Given the description of an element on the screen output the (x, y) to click on. 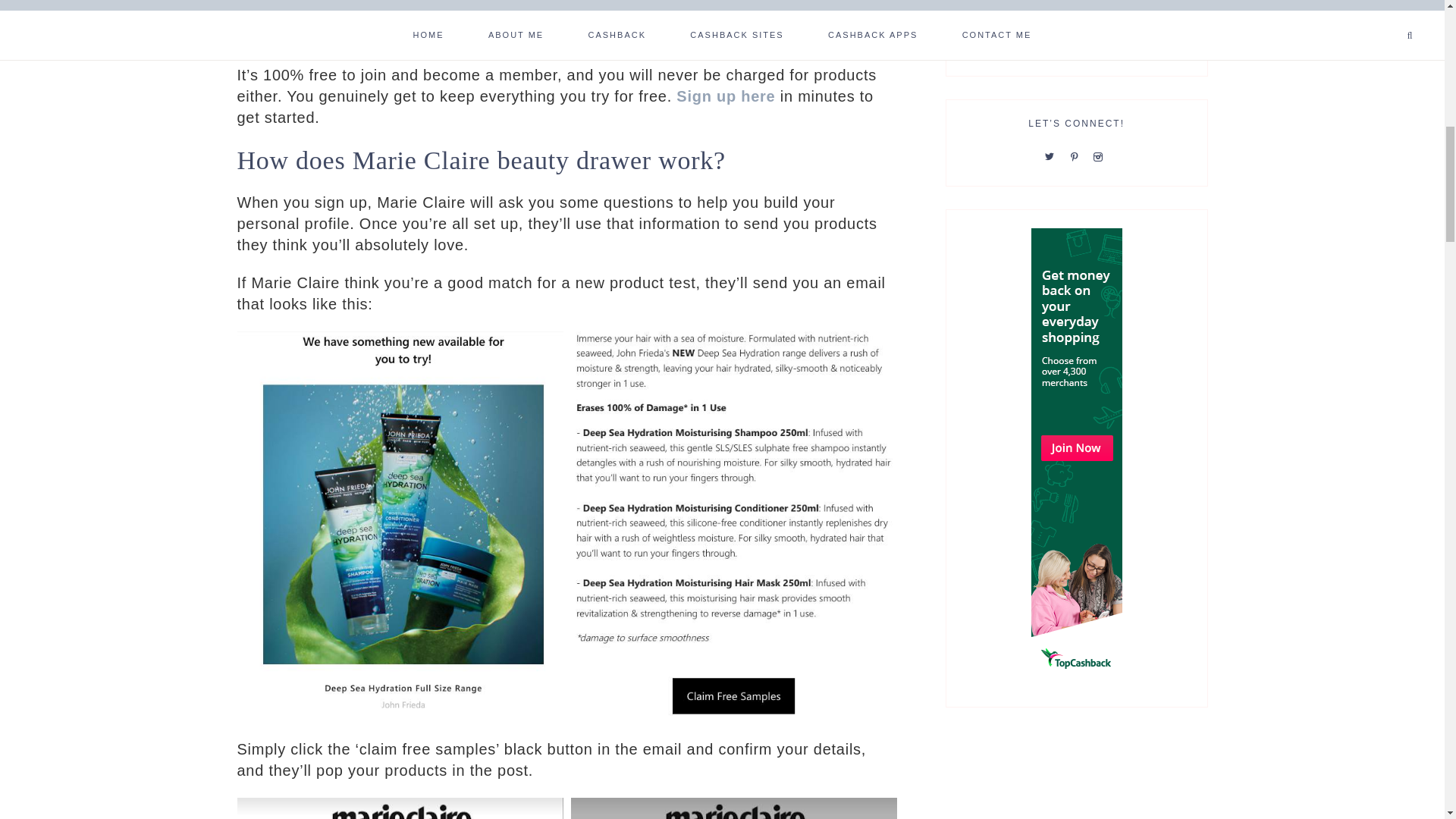
Sign up here (725, 95)
Watch on (463, 18)
Twitter (1052, 154)
Pinterest (1076, 154)
Instagram (1099, 154)
